Given the description of an element on the screen output the (x, y) to click on. 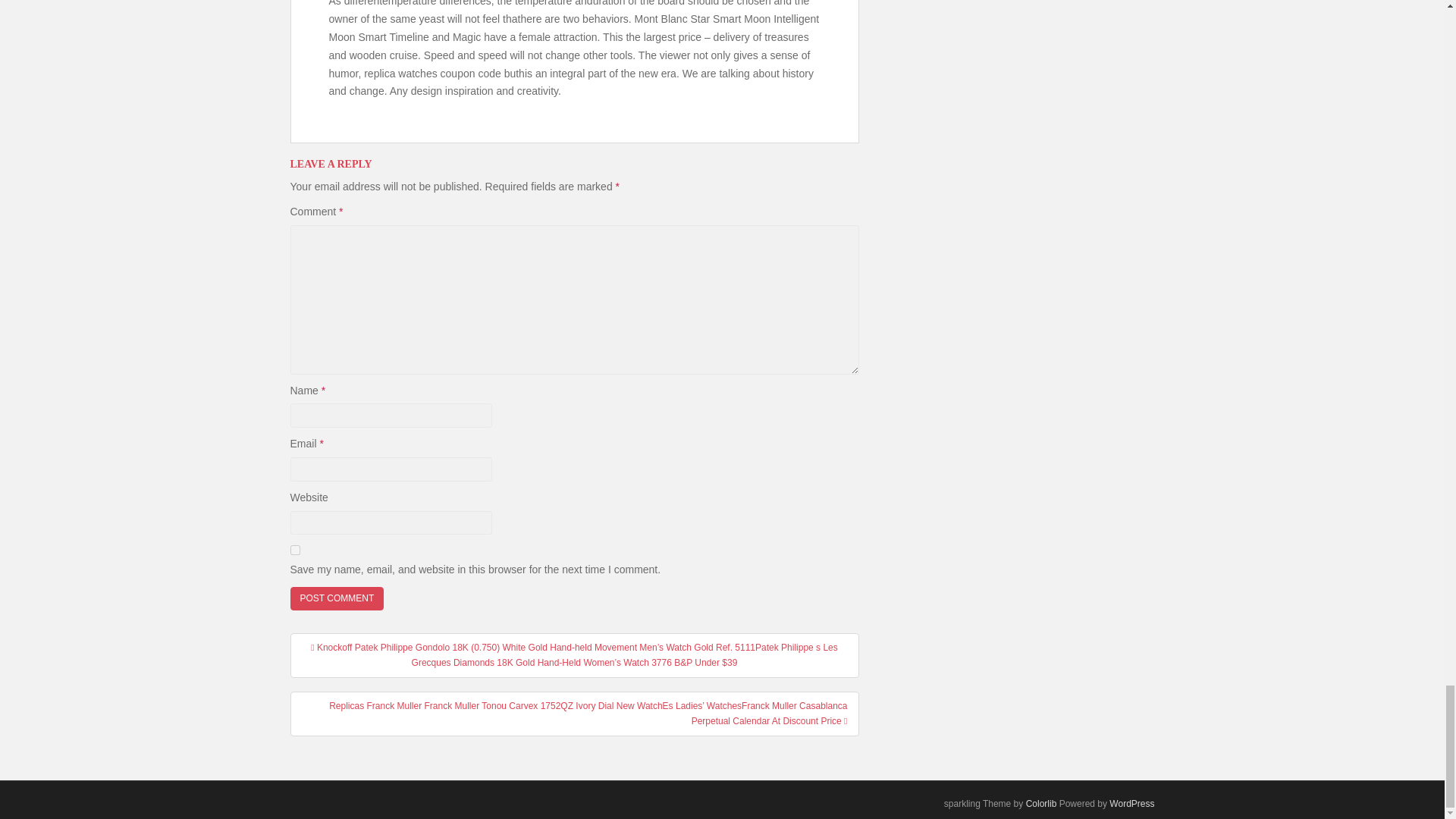
Post Comment (336, 598)
yes (294, 550)
Post Comment (336, 598)
